Given the description of an element on the screen output the (x, y) to click on. 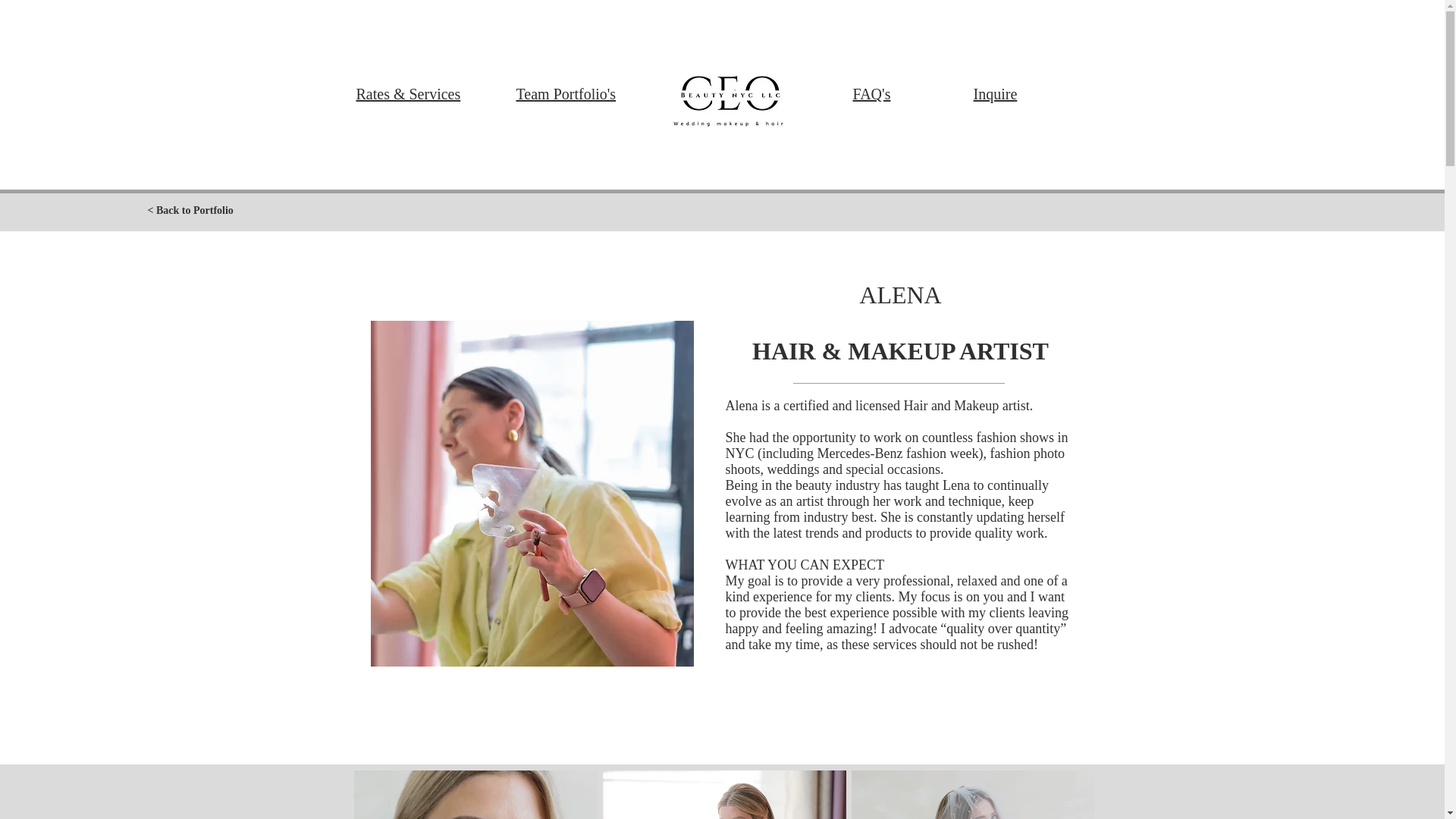
FAQ's (870, 93)
Inquire (995, 93)
Team Portfolio's (565, 93)
